Given the description of an element on the screen output the (x, y) to click on. 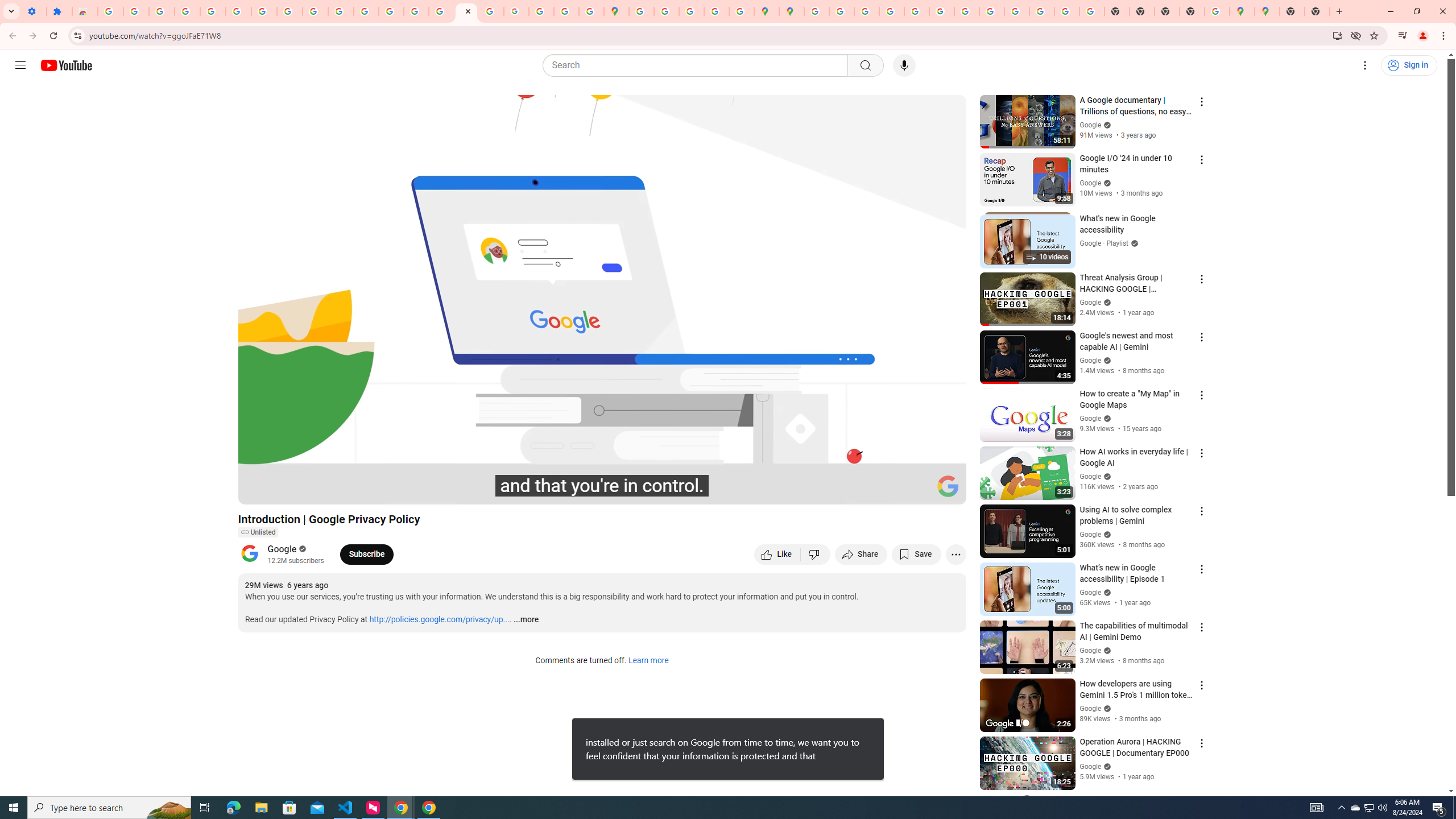
Channel watermark (947, 486)
Unlisted (257, 532)
Sign in - Google Accounts (816, 11)
Privacy Help Center - Policies Help (891, 11)
Search with your voice (903, 65)
Google Maps (1266, 11)
Use Google Maps in Space - Google Maps Help (1216, 11)
Theater mode (t) (917, 490)
